Given the description of an element on the screen output the (x, y) to click on. 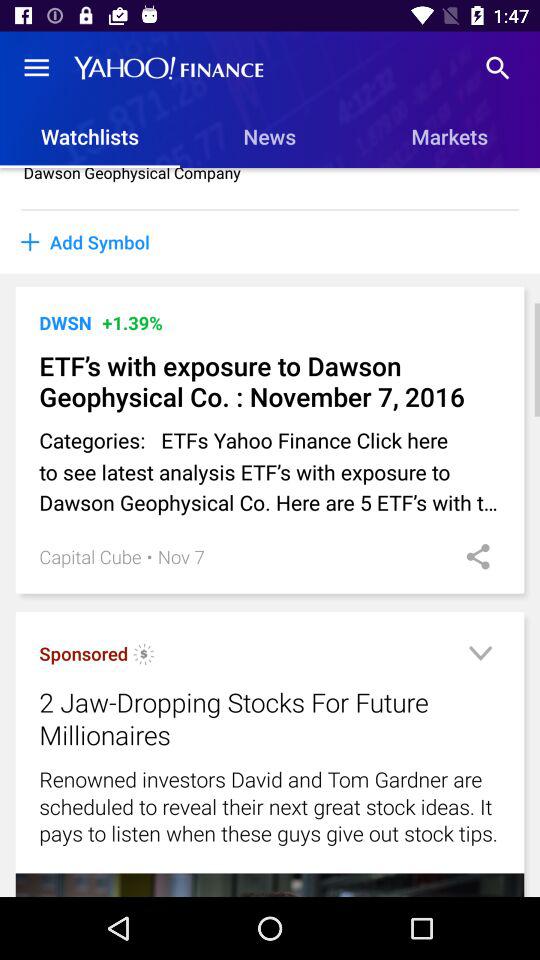
click icon below 2 jaw dropping icon (269, 806)
